Given the description of an element on the screen output the (x, y) to click on. 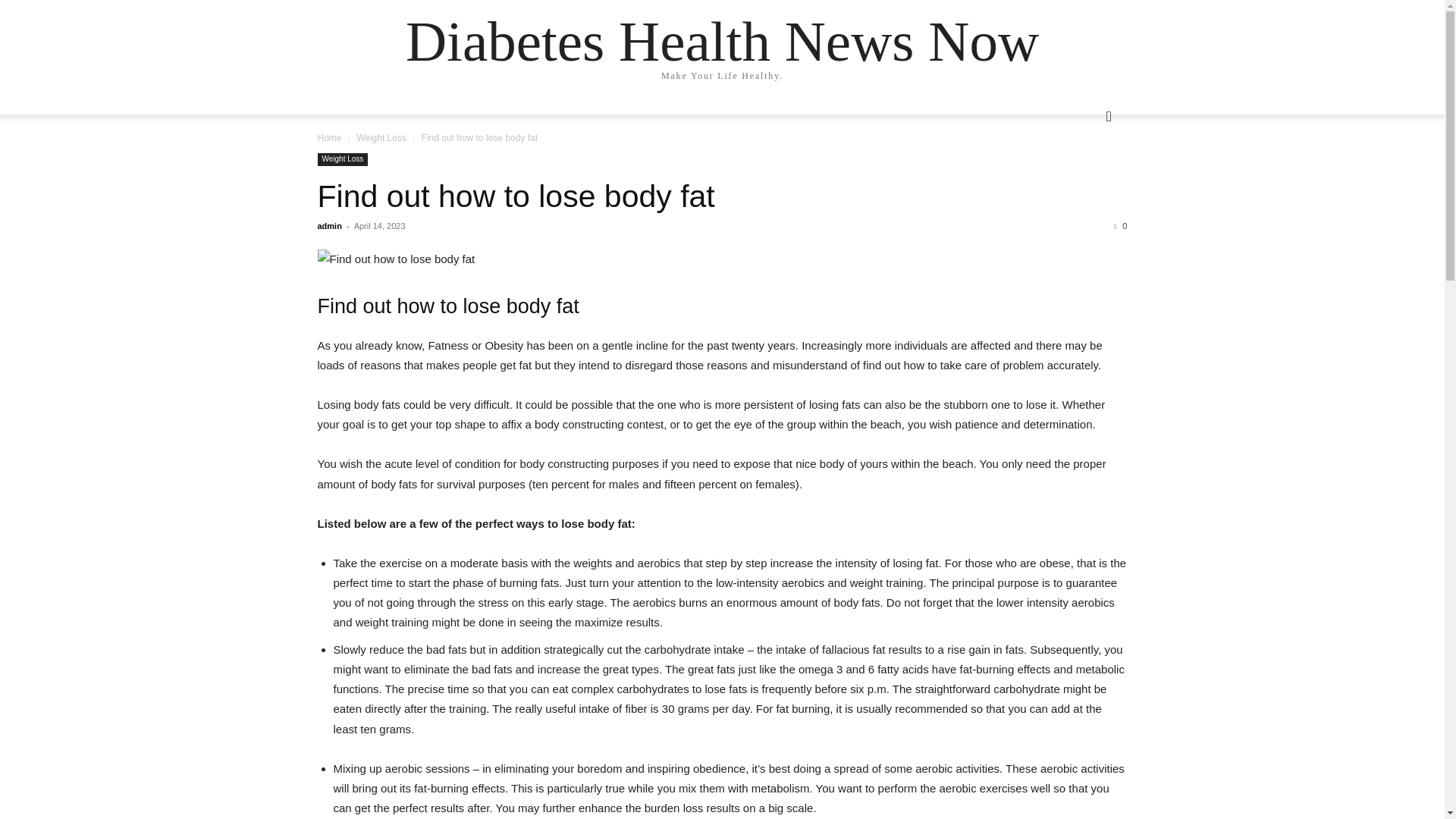
Weight Loss (381, 137)
0 (1119, 225)
admin (328, 225)
Home (328, 137)
Diabetes Health News Now (722, 41)
View all posts in Weight Loss (381, 137)
Weight Loss (342, 159)
Find out how to lose body fat (515, 196)
Search (1085, 177)
Find out how to lose body fat (515, 196)
Find out how to lose body fat (721, 259)
